Given the description of an element on the screen output the (x, y) to click on. 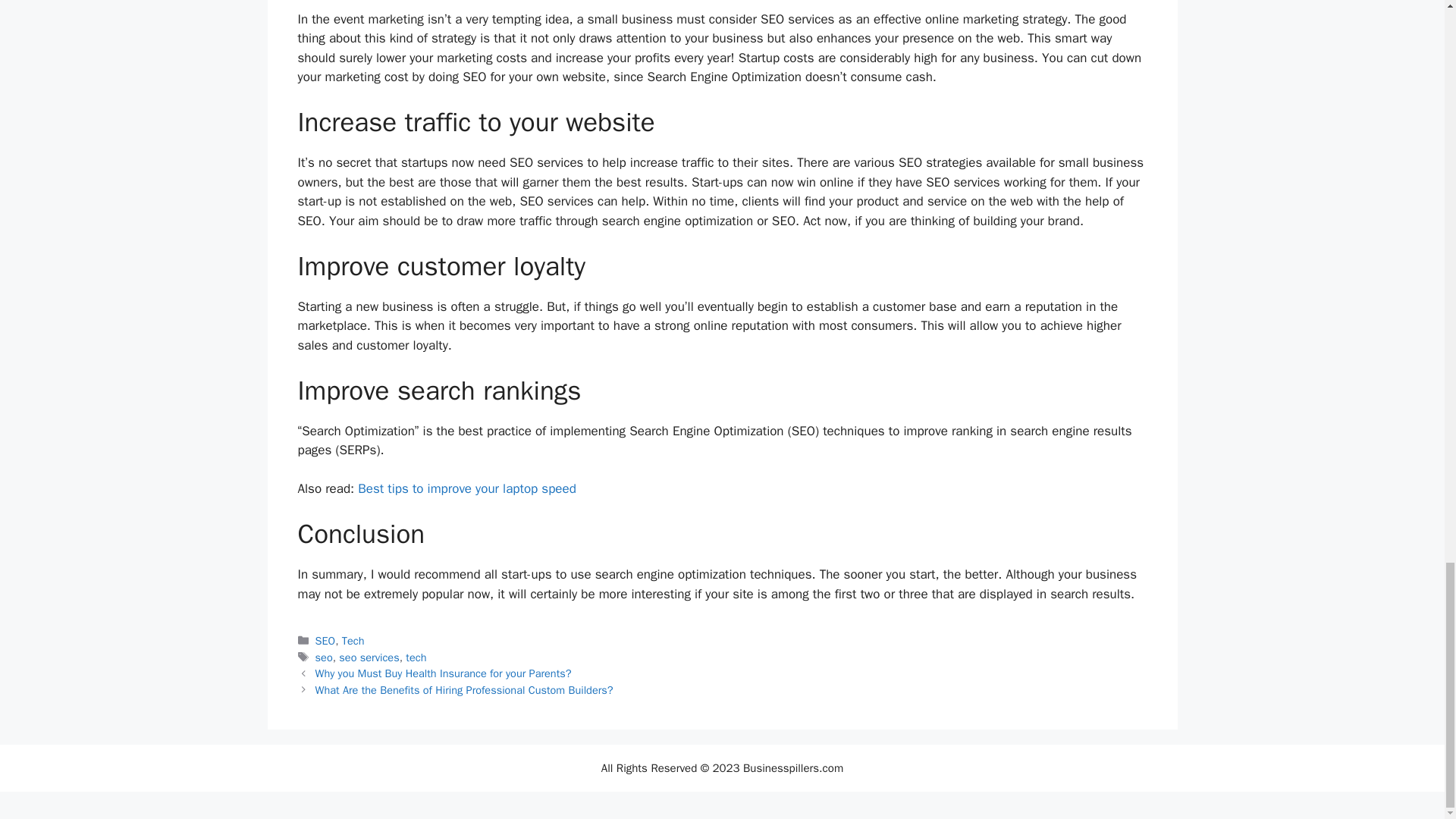
seo (324, 657)
SEO (325, 640)
Best tips to improve your laptop speed (467, 488)
Tech (353, 640)
tech (416, 657)
Why you Must Buy Health Insurance for your Parents? (443, 673)
seo services (368, 657)
